Given the description of an element on the screen output the (x, y) to click on. 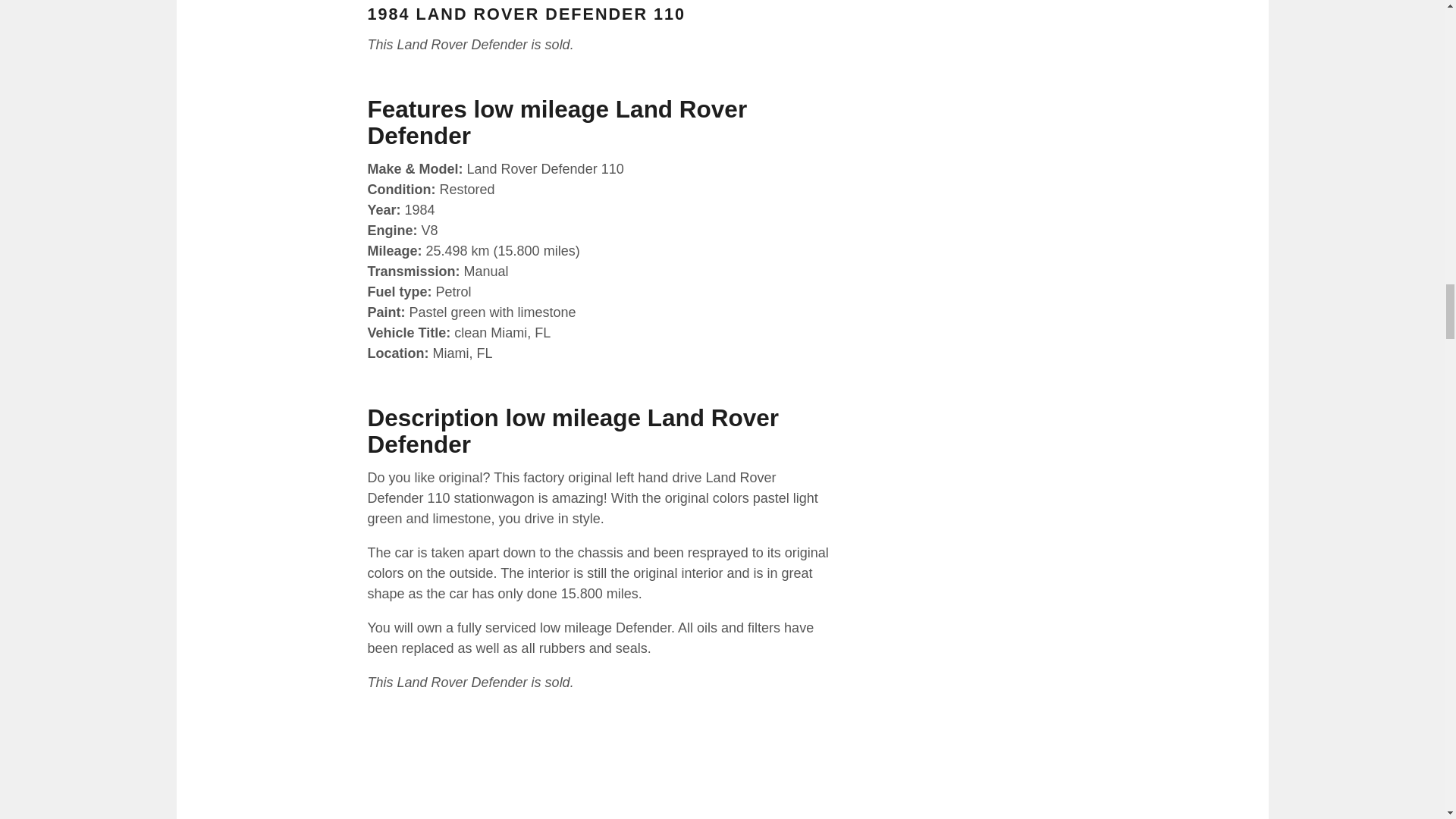
1984 LAND ROVER DEFENDER 110 (525, 13)
